Given the description of an element on the screen output the (x, y) to click on. 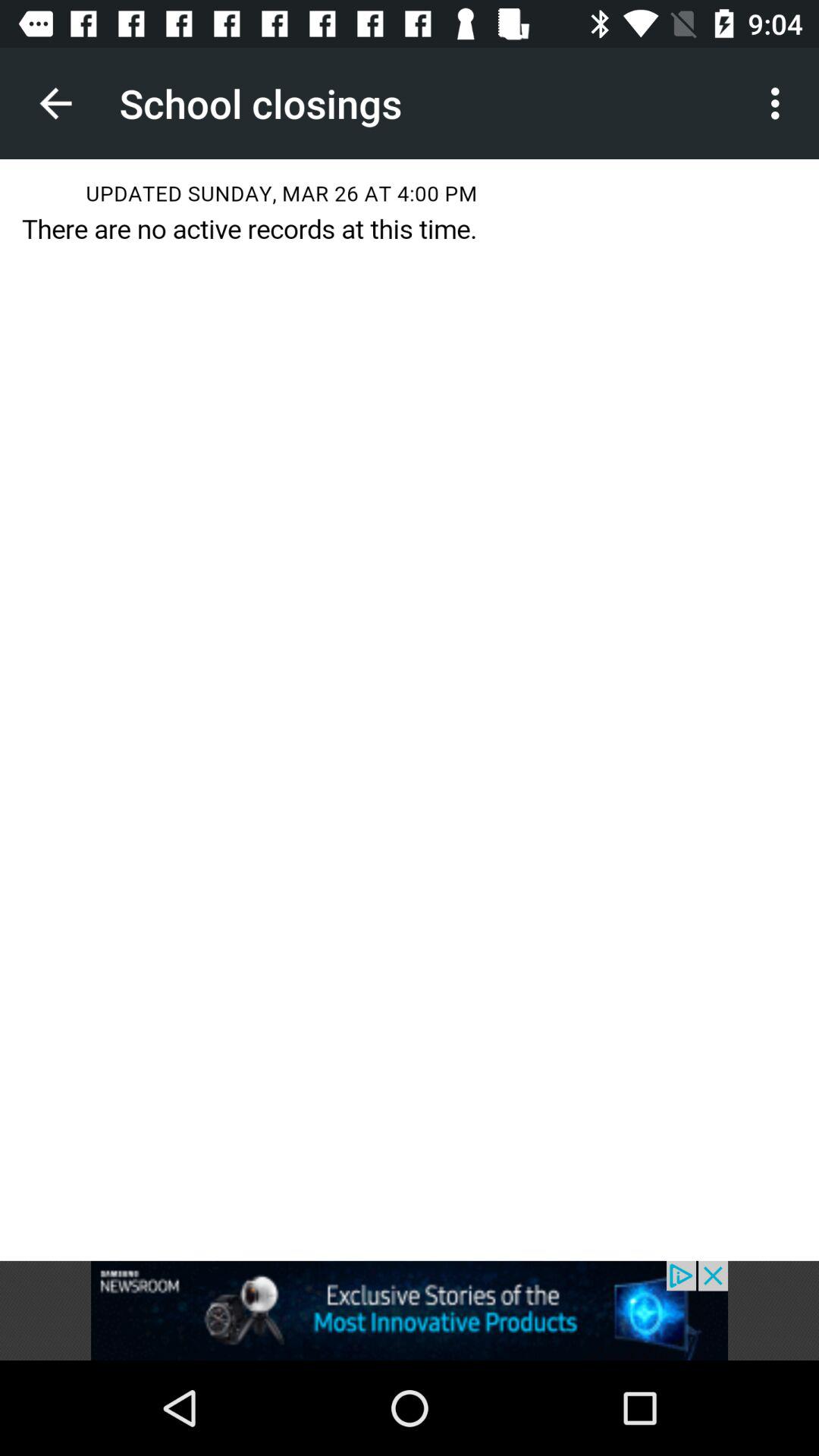
advertisement link (409, 1310)
